Given the description of an element on the screen output the (x, y) to click on. 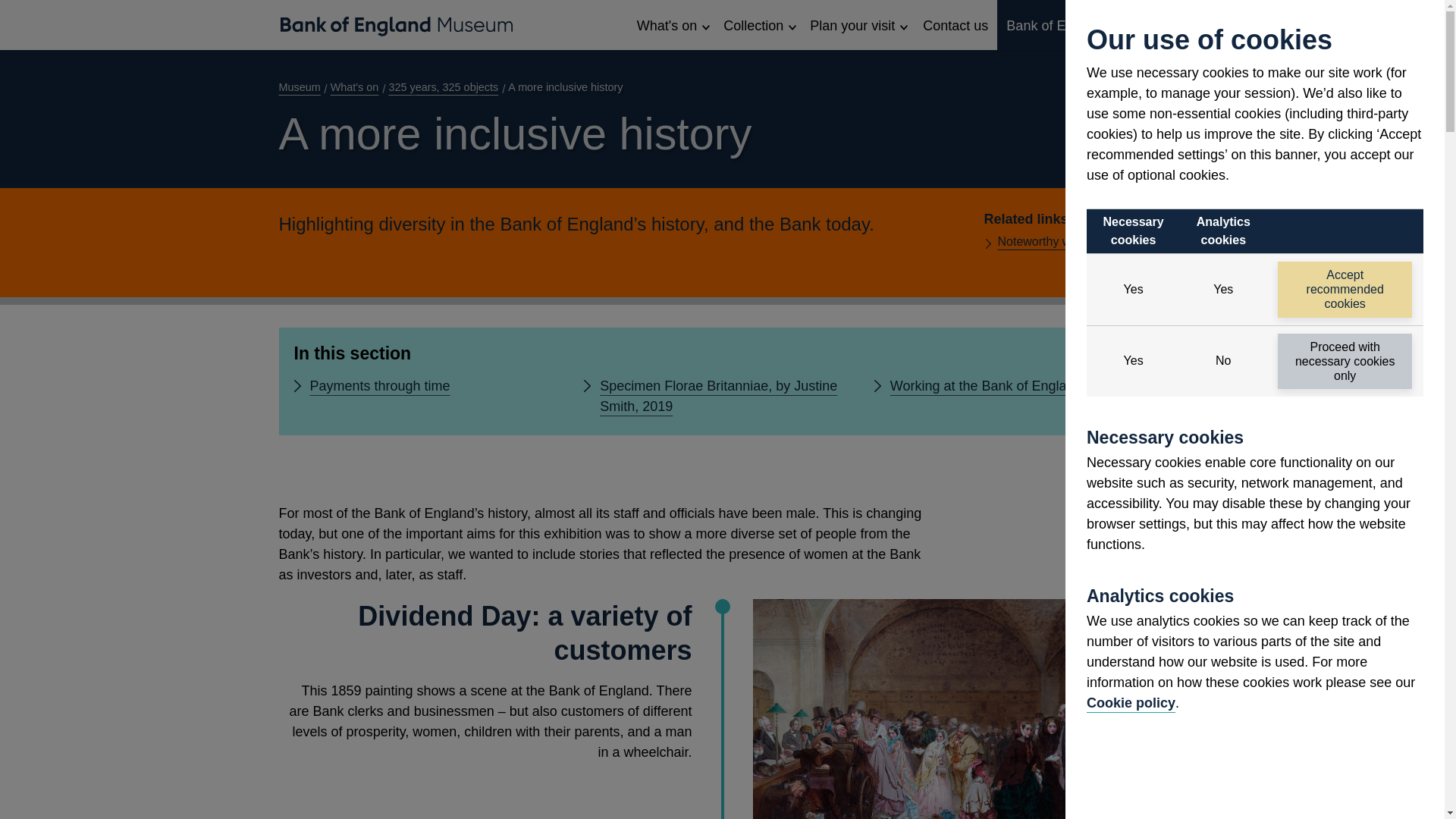
Bank of England website (1081, 24)
Museum (304, 87)
Accept recommended cookies (1345, 289)
Contact us (955, 24)
What's on (672, 24)
Specimen Florae Britanniae, by Justine Smith, 2019 (721, 395)
Cookie policy (1130, 702)
Collection (759, 24)
What's on (358, 87)
Proceed with necessary cookies only (1345, 361)
